Given the description of an element on the screen output the (x, y) to click on. 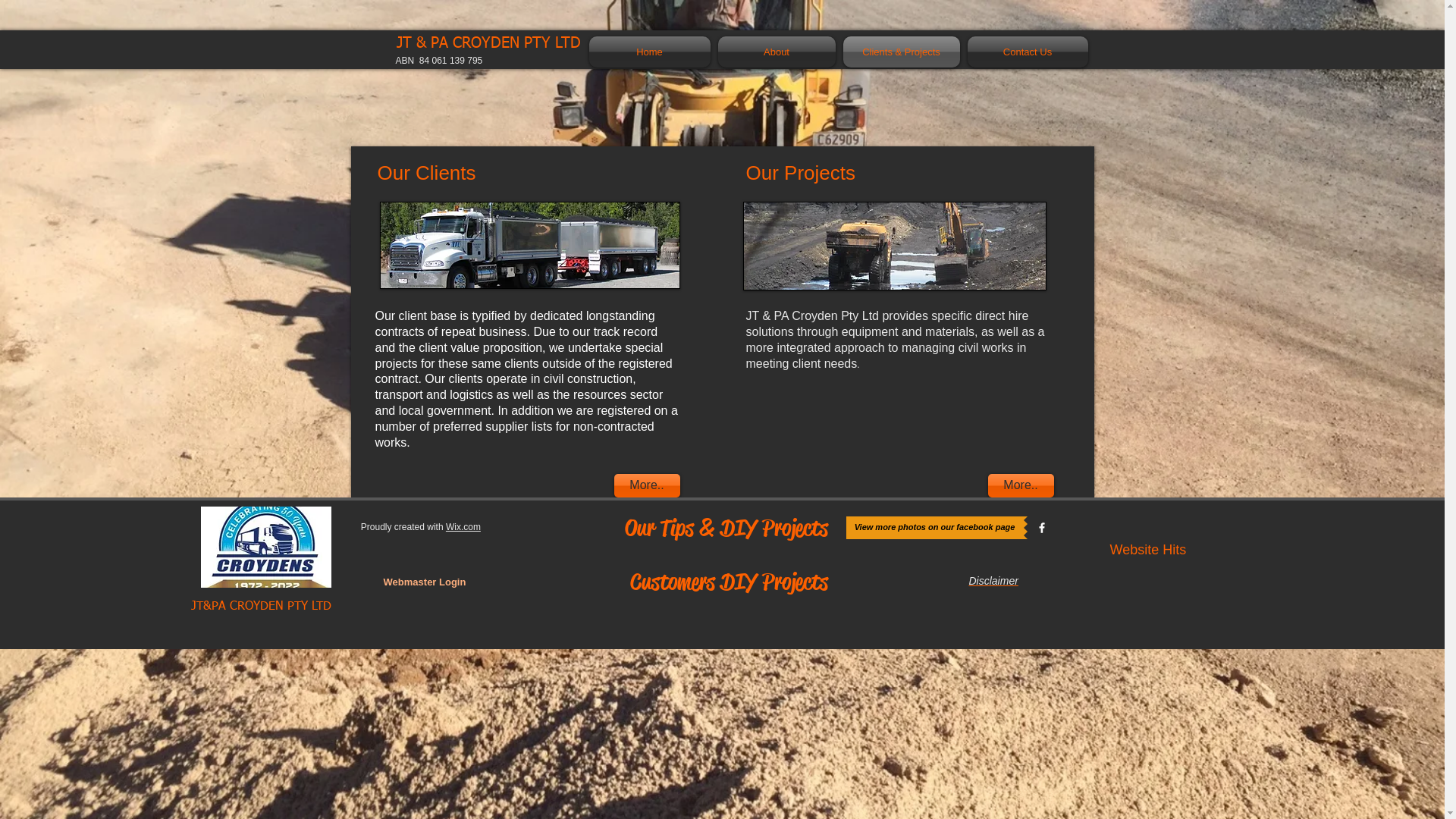
Disclaimer Element type: text (993, 580)
Clients & Projects Element type: text (900, 51)
More.. Element type: text (647, 485)
Home Element type: text (650, 51)
Customers DIY Projects Element type: text (729, 581)
Contact Us Element type: text (1025, 51)
View more photos on our facebook page Element type: text (934, 527)
Our Tips & DIY Projects Element type: text (726, 527)
Webmaster Login Element type: text (423, 581)
About Element type: text (776, 51)
M36A.JPG Element type: hover (529, 244)
IMG_1442.JPG Element type: hover (894, 245)
Wix.com Element type: text (462, 526)
More.. Element type: text (1020, 485)
